Given the description of an element on the screen output the (x, y) to click on. 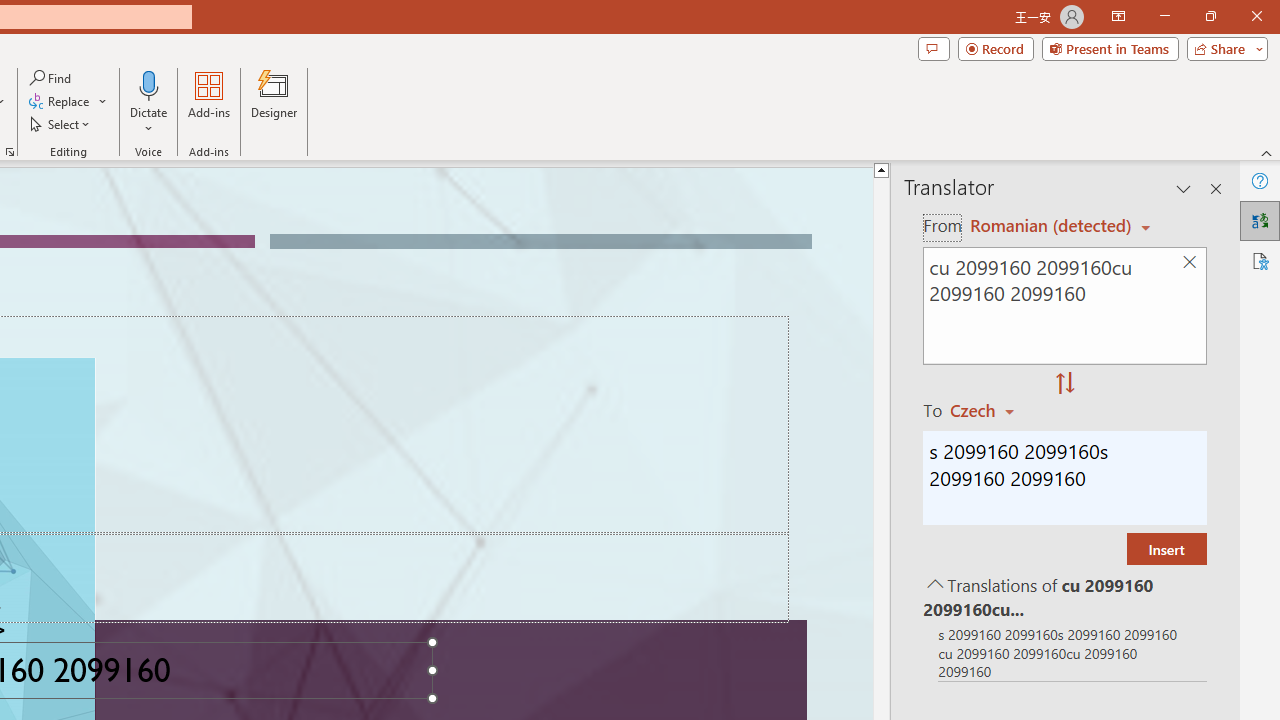
Clear text (1189, 262)
Translations of cu 2099160 2099160cu 2099160 2099160 (1064, 596)
